Given the description of an element on the screen output the (x, y) to click on. 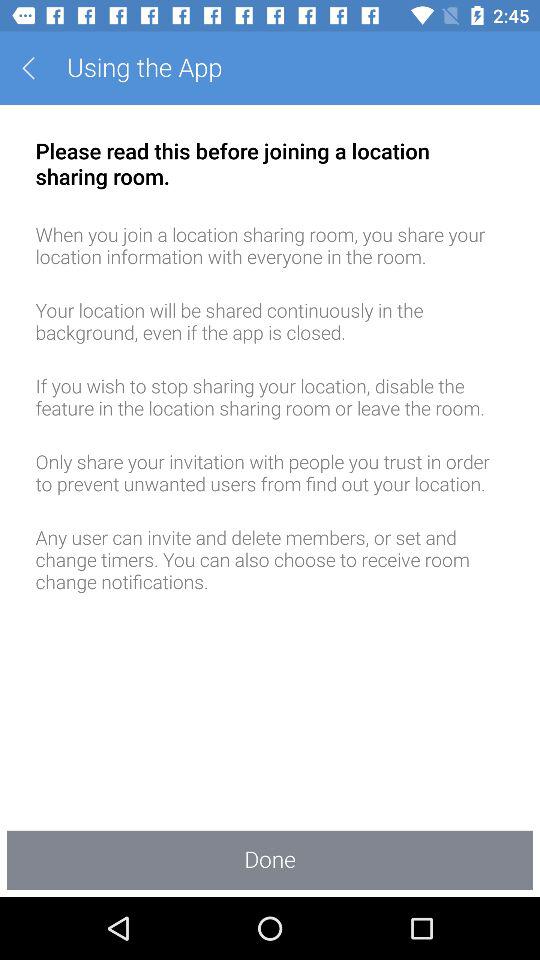
go back (35, 67)
